Given the description of an element on the screen output the (x, y) to click on. 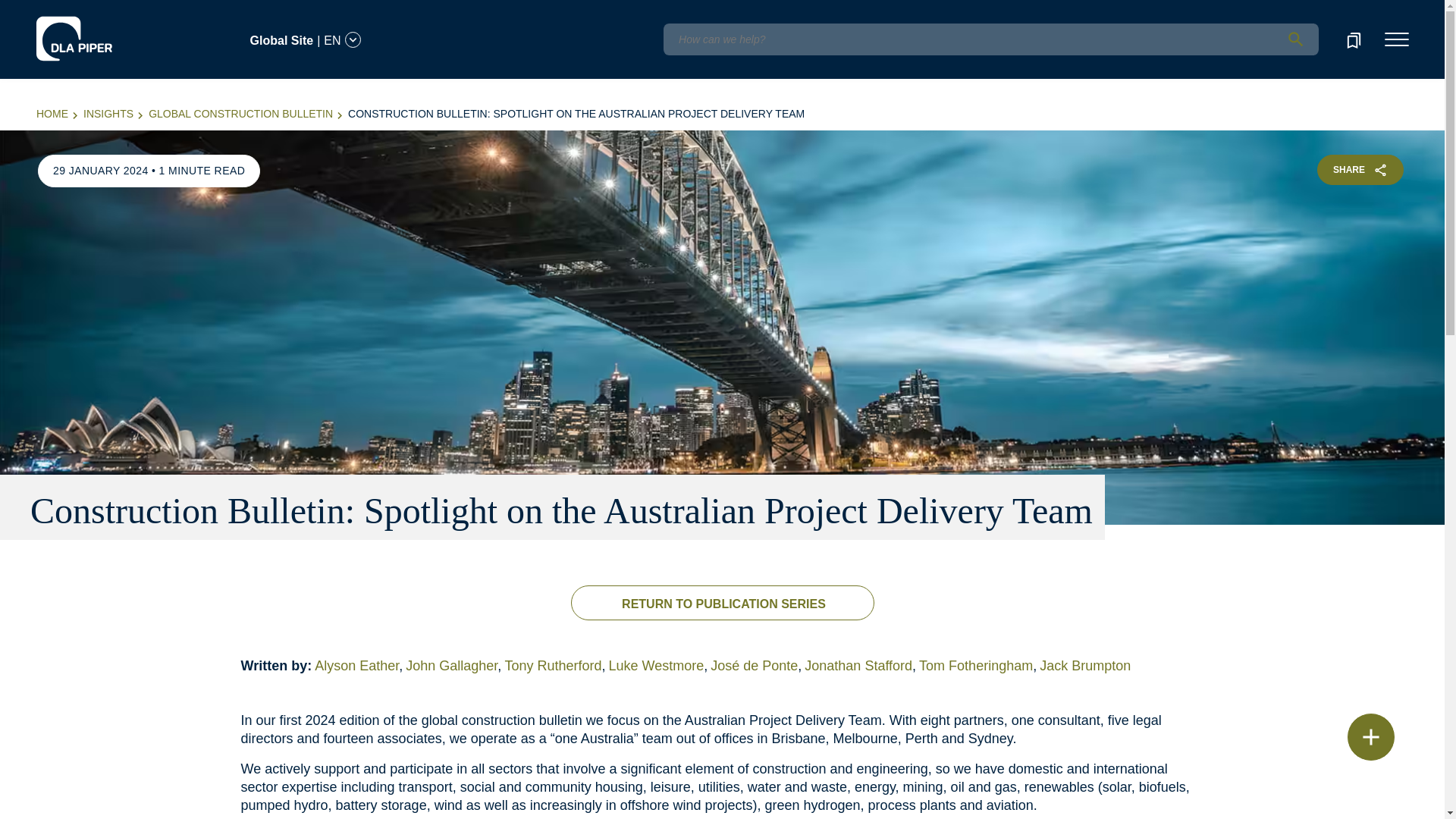
English (115, 11)
English (116, 31)
Deutsch (157, 11)
Insert a query. Press enter to send (990, 39)
